Given the description of an element on the screen output the (x, y) to click on. 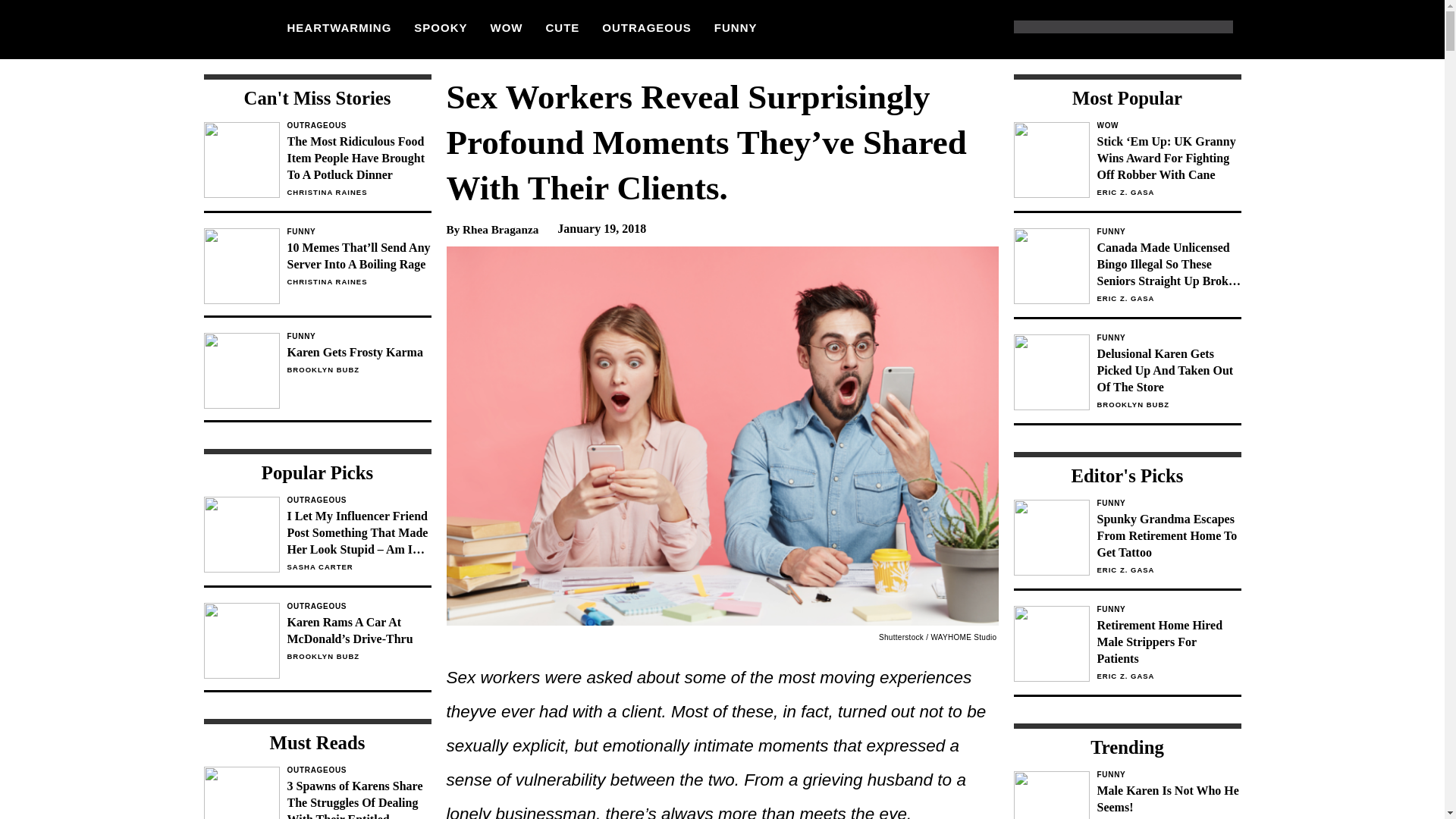
Tickld (225, 29)
HEARTWARMING (338, 26)
Spunky Grandma Escapes From Retirement Home To Get Tattoo (1168, 536)
Retirement Home Hired Male Strippers For Patients (1168, 642)
Funny (358, 231)
WOW (1168, 125)
Funny (1168, 338)
WOW (506, 26)
SPOOKY (440, 26)
